Given the description of an element on the screen output the (x, y) to click on. 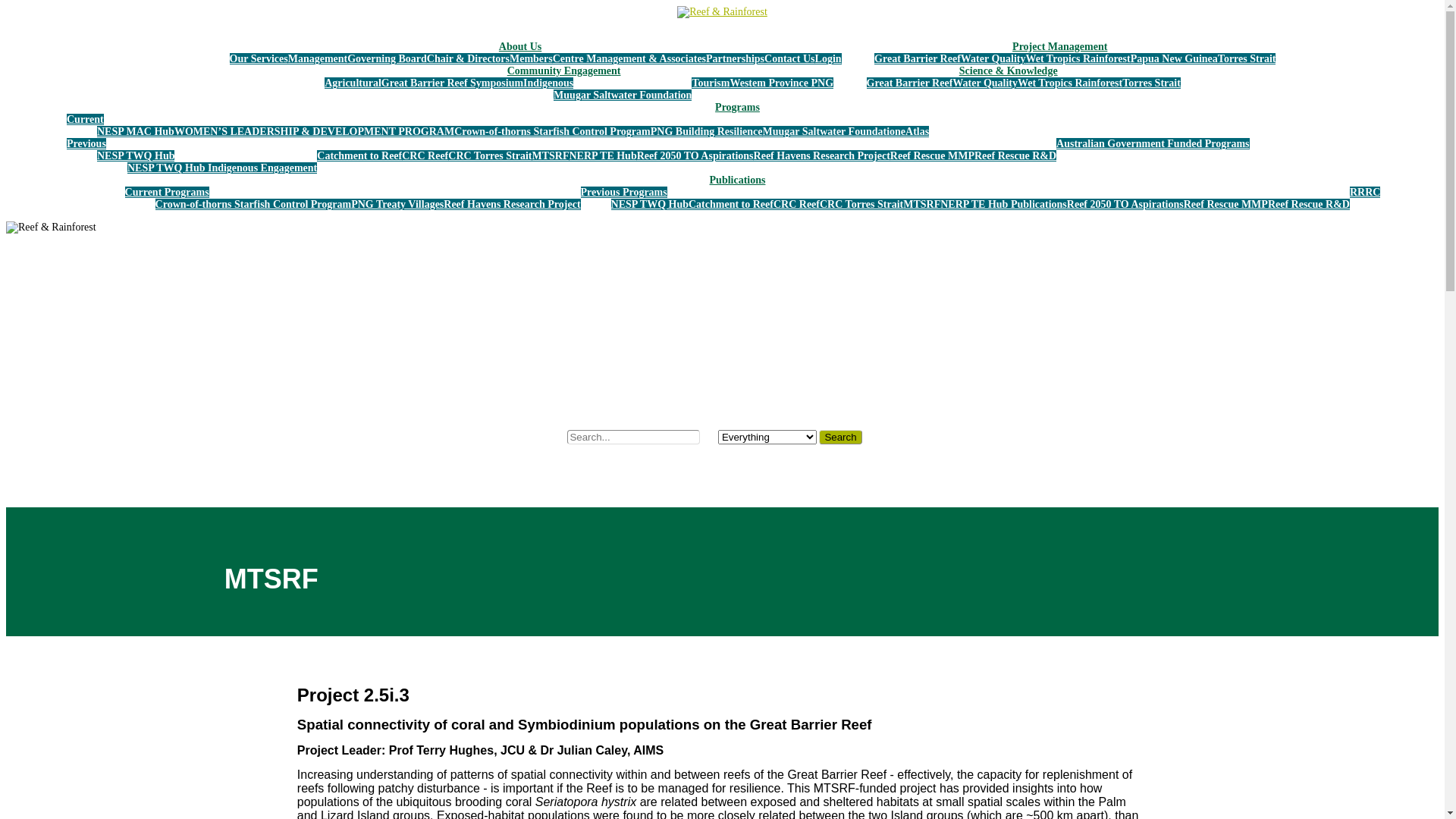
Skip to content Element type: text (5, 5)
RRRC Element type: text (1364, 191)
Indigenous Element type: text (548, 82)
Great Barrier Reef Element type: text (917, 58)
Reef 2050 TO Aspirations Element type: text (695, 155)
Reef Rescue MMP Element type: text (932, 155)
NESP TWQ Hub Element type: text (135, 155)
Great Barrier Reef Symposium Element type: text (452, 82)
Papua New Guinea Element type: text (1173, 58)
Reef Havens Research Project Element type: text (821, 155)
About Us Element type: text (519, 46)
Our Services Element type: text (258, 58)
Chair & Directors Element type: text (467, 58)
Project Management Element type: text (1059, 46)
Catchment to Reef Element type: text (730, 204)
Crown-of-thorns Starfish Control Program Element type: text (552, 131)
NERP TE Hub Element type: text (602, 155)
CRC Torres Strait Element type: text (489, 155)
CRC Reef Element type: text (424, 155)
Community Engagement Element type: text (564, 70)
Science & Knowledge Element type: text (1008, 70)
Partnerships Element type: text (735, 58)
Previous Programs Element type: text (623, 191)
Reef Rescue MMP Element type: text (1225, 204)
Reef & Rainforest Element type: hover (51, 227)
Programs Element type: text (737, 106)
CRC Torres Strait Element type: text (861, 204)
Muugar Saltwater Foundation Element type: text (622, 94)
NESP TWQ Hub Element type: text (649, 204)
Water Quality Element type: text (984, 82)
NESP MAC Hub Element type: text (135, 131)
CRC Reef Element type: text (796, 204)
Water Quality Element type: text (993, 58)
Crown-of-thorns Starfish Control Program Element type: text (253, 204)
MTSRF Element type: text (921, 204)
Management Element type: text (318, 58)
Reef Rescue R&D Element type: text (1015, 155)
Catchment to Reef Element type: text (358, 155)
Search for: Element type: hover (633, 436)
Current Programs Element type: text (167, 191)
Agricultural Element type: text (352, 82)
Contact Us Element type: text (789, 58)
MTSRF Element type: text (549, 155)
Current Element type: text (84, 119)
Wet Tropics Rainforest Element type: text (1078, 58)
NESP TWQ Hub Indigenous Engagement Element type: text (221, 167)
Reef Havens Research Project Element type: text (511, 204)
Reef & Rainforest Element type: hover (722, 11)
Westem Province PNG Element type: text (781, 82)
Muugar Saltwater Foundation Element type: text (831, 131)
Login Element type: text (828, 58)
Torres Strait Element type: text (1151, 82)
Governing Board Element type: text (386, 58)
NERP TE Hub Publications Element type: text (1003, 204)
Reef 2050 TO Aspirations Element type: text (1124, 204)
Publications Element type: text (737, 179)
PNG Building Resilience Element type: text (706, 131)
Torres Strait Element type: text (1246, 58)
Australian Government Funded Programs Element type: text (1152, 143)
Members Element type: text (530, 58)
Centre Management & Associates Element type: text (629, 58)
Wet Tropics Rainforest Element type: text (1069, 82)
Tourism Element type: text (710, 82)
Reef Rescue R&D Element type: text (1308, 204)
Previous Element type: text (86, 143)
eAtlas Element type: text (914, 131)
Search Element type: text (840, 436)
Great Barrier Reef Element type: text (909, 82)
PNG Treaty Villages Element type: text (397, 204)
